Given the description of an element on the screen output the (x, y) to click on. 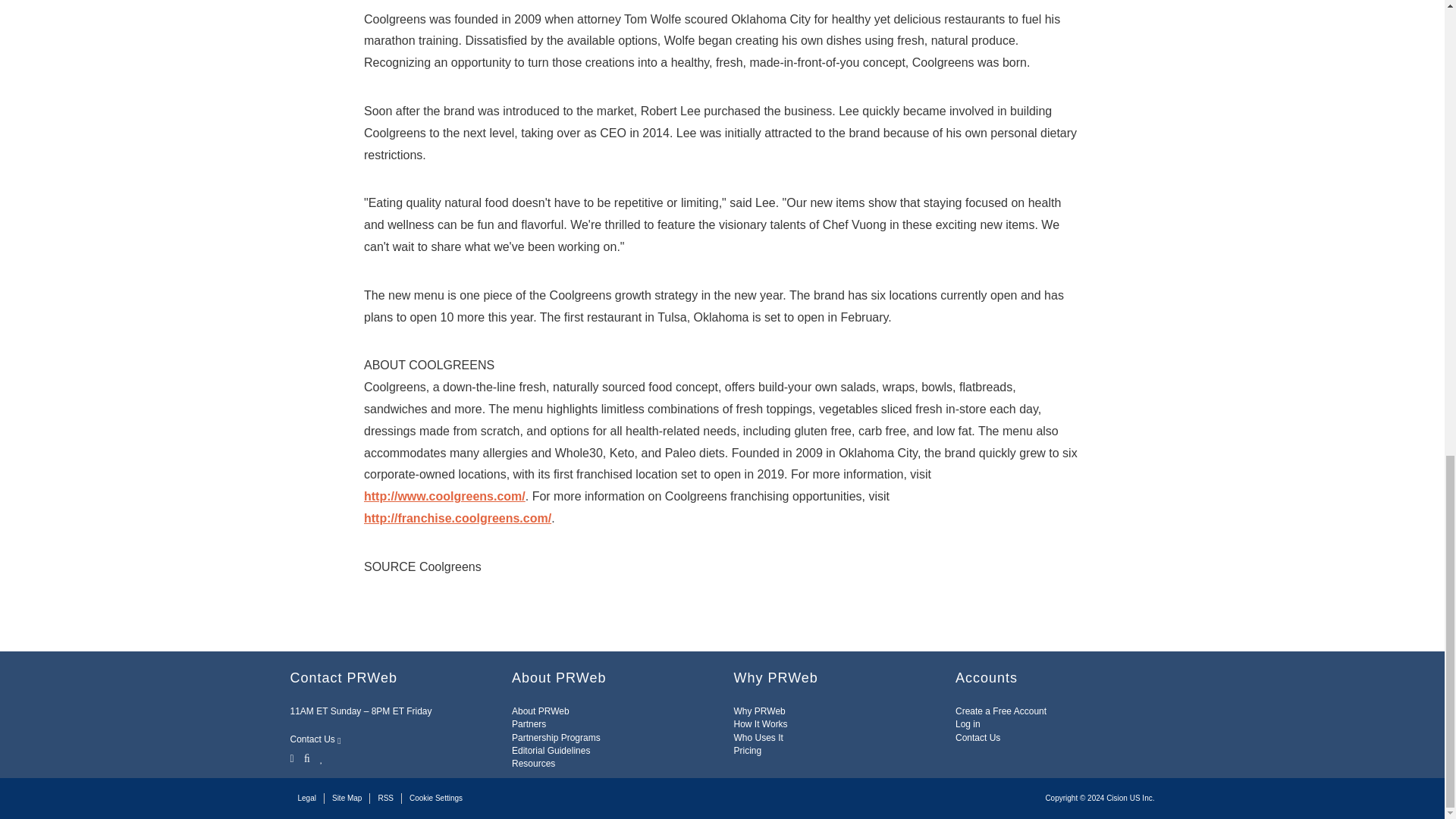
Why PRWeb (759, 710)
Partnership Programs (555, 737)
Facebook (306, 758)
Editorial Guidelines (550, 750)
How It Works (760, 724)
Resources (533, 763)
Partners (529, 724)
About PRWeb (540, 710)
